Given the description of an element on the screen output the (x, y) to click on. 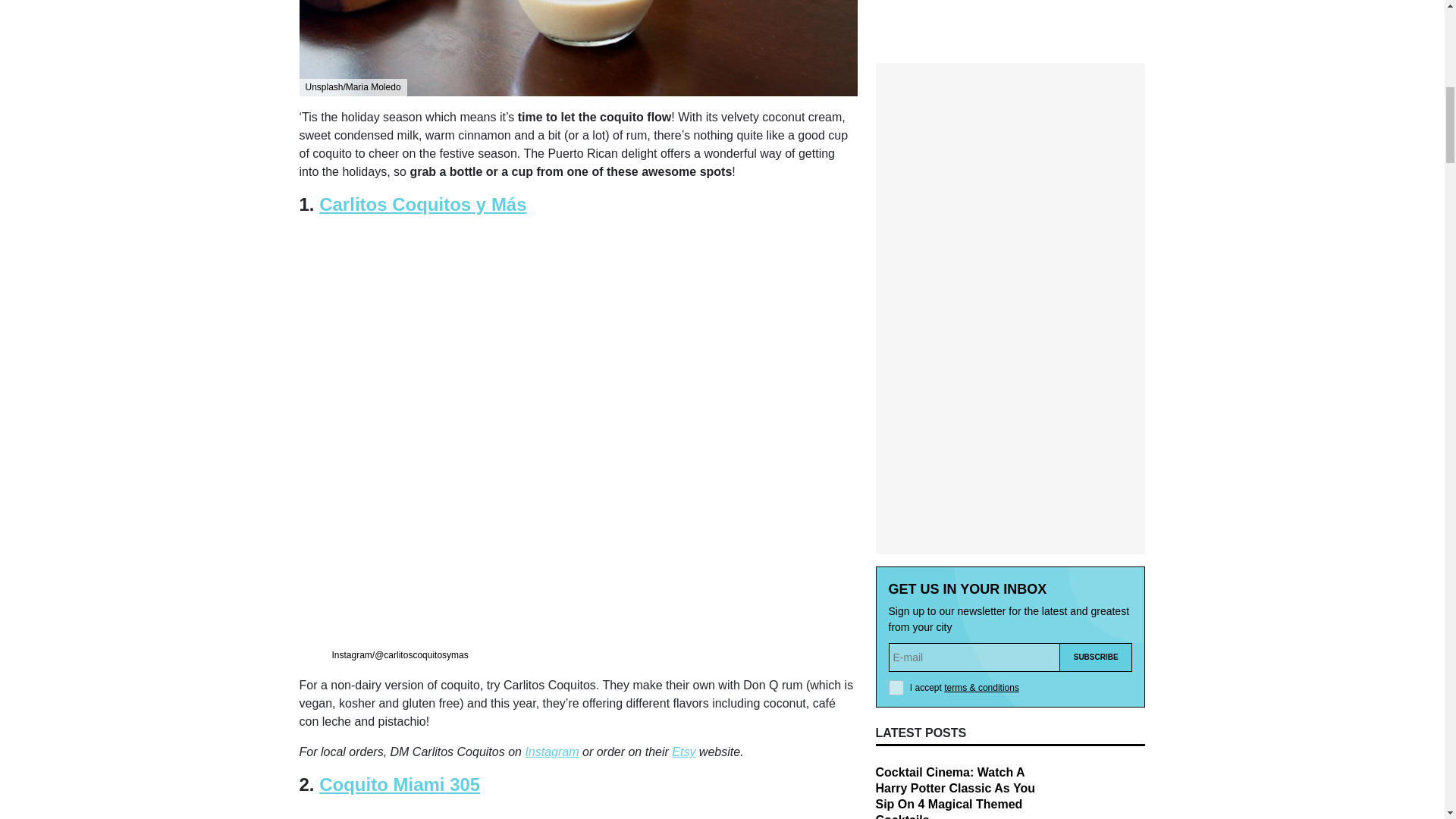
1 (896, 348)
Instagram (551, 751)
Etsy (683, 751)
Subscribe (1095, 318)
Coquito Miami 305 (399, 783)
